Given the description of an element on the screen output the (x, y) to click on. 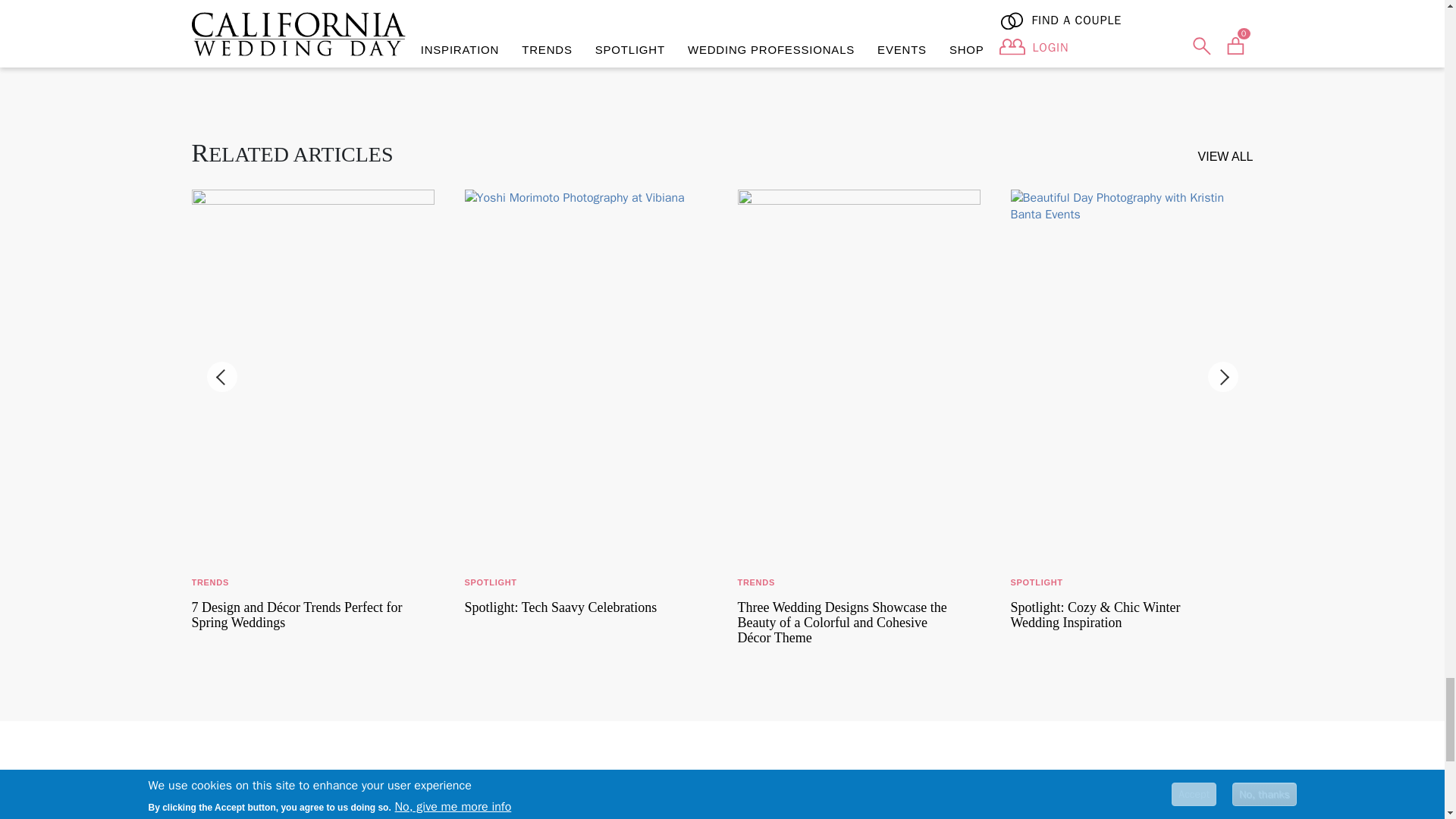
Photo Courtesy of Rush Creek Lodge (548, 9)
VIEW ALL (1225, 156)
